Given the description of an element on the screen output the (x, y) to click on. 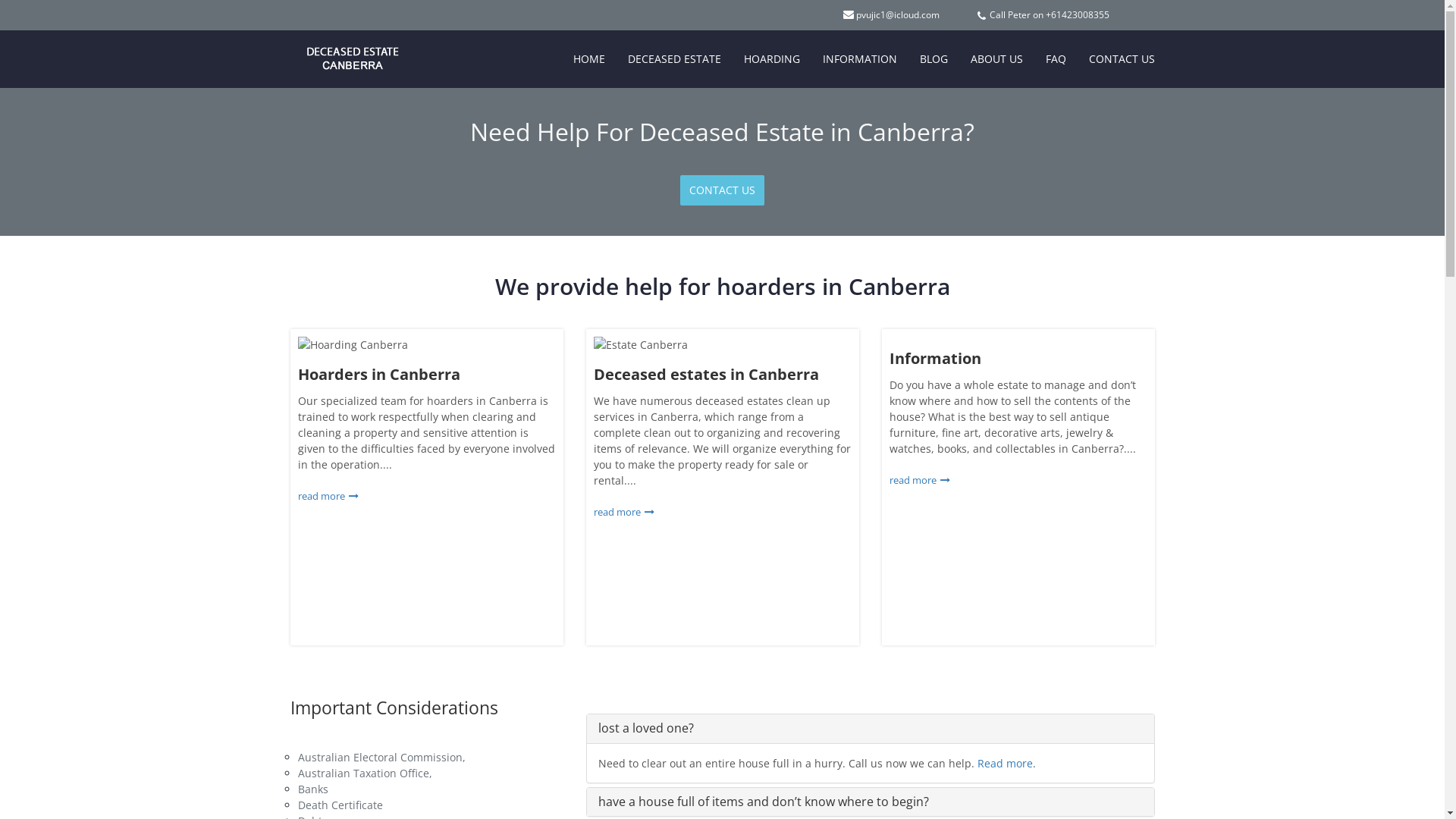
Read more Element type: text (1004, 763)
read more Element type: text (918, 479)
HOARDING Element type: text (771, 58)
read more Element type: text (327, 495)
INFORMATION Element type: text (859, 58)
ABOUT US Element type: text (995, 58)
read more Element type: text (623, 511)
Banks Element type: text (312, 788)
CONTACT US Element type: text (1120, 58)
BLOG Element type: text (933, 58)
lost a loved one? Element type: text (645, 727)
Australian Electoral Commission, Element type: text (380, 756)
FAQ Element type: text (1055, 58)
Death Certificate Element type: text (339, 804)
CONTACT US Element type: text (722, 190)
pvujic1@icloud.com Element type: text (896, 14)
HOME Element type: text (588, 58)
+61423008355 Element type: text (1076, 14)
Deceased Estate Canberra Element type: hover (341, 49)
DECEASED ESTATE Element type: text (673, 58)
Australian Taxation Office, Element type: text (364, 772)
